Given the description of an element on the screen output the (x, y) to click on. 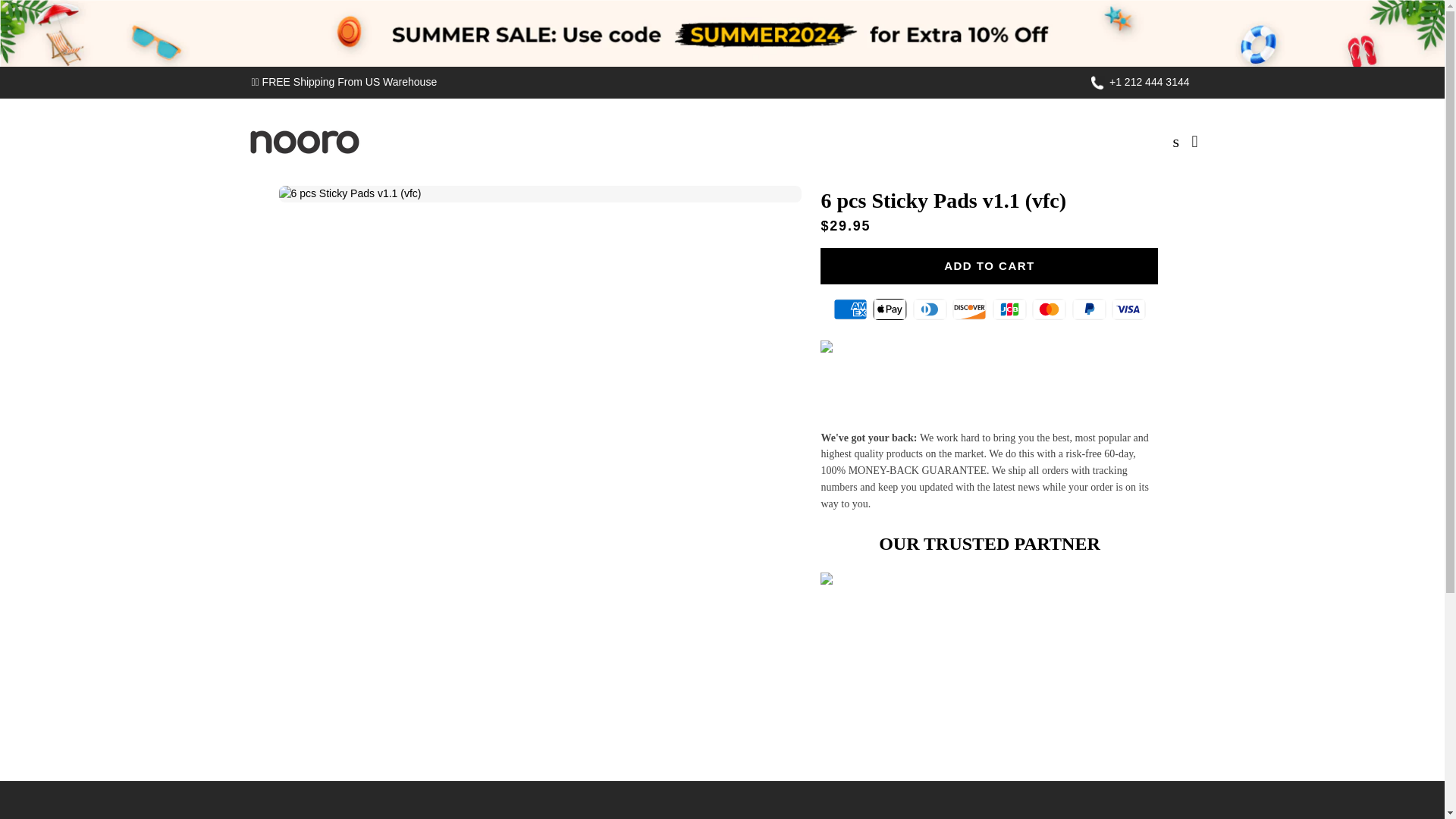
Discover (969, 309)
ADD TO CART (989, 265)
JCB (1009, 309)
American Express (849, 309)
SEARCH (1176, 141)
PayPal (1088, 309)
Apple Pay (889, 309)
Mastercard (1048, 309)
Visa (1128, 309)
CART (1195, 141)
Diners Club (929, 309)
